Given the description of an element on the screen output the (x, y) to click on. 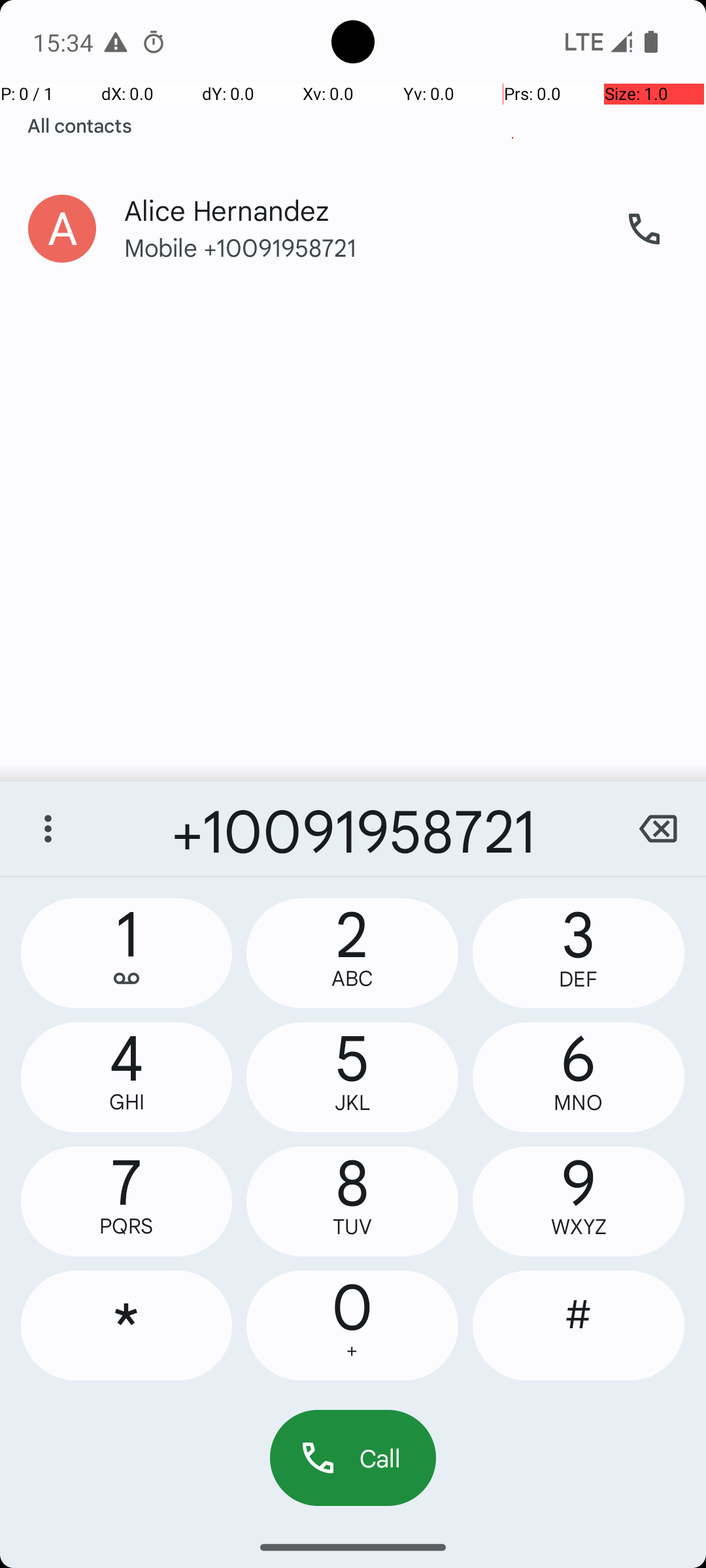
Call Element type: android.widget.Button (352, 1457)
+10091958721 Element type: android.widget.EditText (352, 828)
backspace Element type: android.widget.ImageButton (657, 828)
1, Element type: android.widget.FrameLayout (126, 953)
2,ABC Element type: android.widget.FrameLayout (352, 953)
3,DEF Element type: android.widget.FrameLayout (578, 953)
4,GHI Element type: android.widget.FrameLayout (126, 1077)
5,JKL Element type: android.widget.FrameLayout (352, 1077)
6,MNO Element type: android.widget.FrameLayout (578, 1077)
7,PQRS Element type: android.widget.FrameLayout (126, 1201)
8,TUV Element type: android.widget.FrameLayout (352, 1201)
9,WXYZ Element type: android.widget.FrameLayout (578, 1201)
* Element type: android.widget.FrameLayout (126, 1325)
ABC Element type: android.widget.TextView (351, 978)
DEF Element type: android.widget.TextView (578, 978)
GHI Element type: android.widget.TextView (126, 1101)
JKL Element type: android.widget.TextView (351, 1102)
MNO Element type: android.widget.TextView (578, 1102)
PQRS Element type: android.widget.TextView (126, 1225)
TUV Element type: android.widget.TextView (351, 1226)
WXYZ Element type: android.widget.TextView (578, 1226)
+ Element type: android.widget.TextView (351, 1351)
All contacts Element type: android.widget.TextView (79, 124)
Quick contact for Alice Hernandez Element type: android.widget.QuickContactBadge (62, 228)
Alice Hernandez Element type: android.widget.TextView (360, 197)
Mobile ‪+10091958721‬ Element type: android.widget.TextView (360, 260)
